Given the description of an element on the screen output the (x, y) to click on. 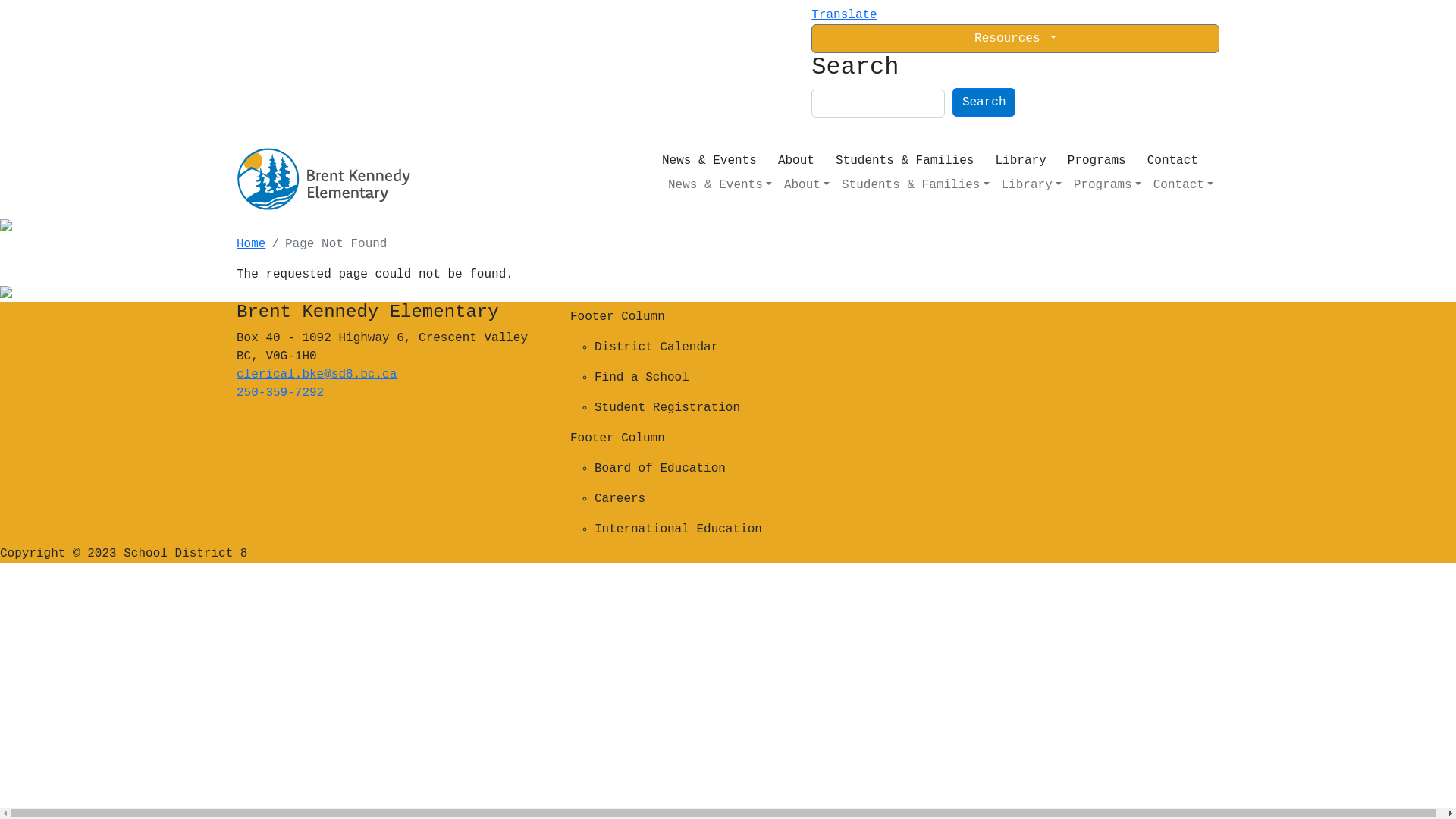
Resources Element type: text (1015, 38)
District Calendar Element type: text (781, 347)
Board of Education Element type: text (781, 468)
250-359-7292 Element type: text (279, 392)
Enter the terms you wish to search for. Element type: hover (877, 102)
International Education Element type: text (781, 529)
Student Registration Element type: text (781, 407)
Home Element type: text (250, 244)
clerical.bke@sd8.bc.ca Element type: text (316, 374)
Careers Element type: text (781, 498)
Translate Element type: text (843, 14)
Find a School Element type: text (781, 377)
Search Element type: text (984, 101)
